Given the description of an element on the screen output the (x, y) to click on. 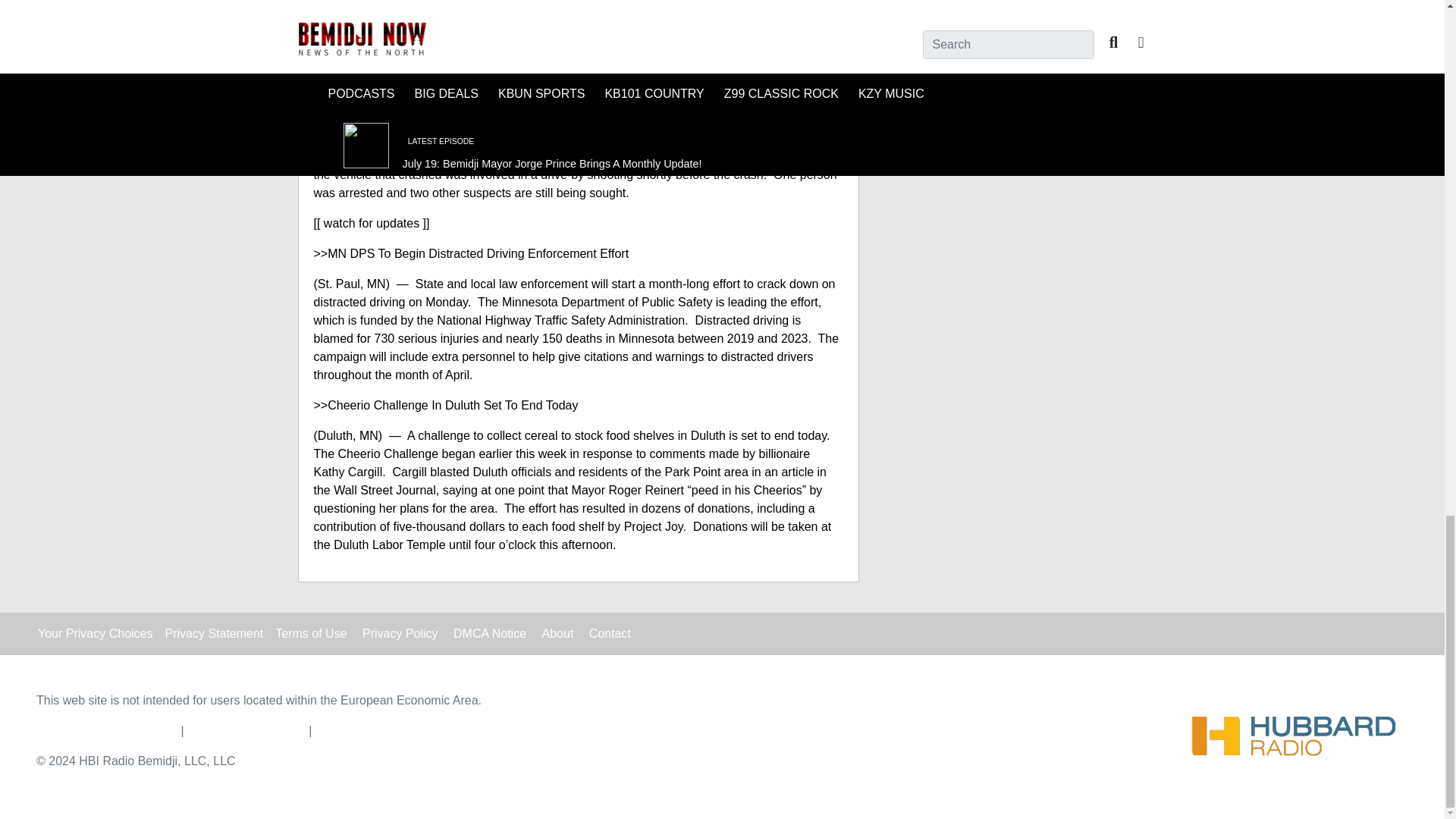
Your Privacy Choices (94, 633)
Privacy Statement (213, 633)
Privacy Policy (400, 633)
Terms of Use (310, 633)
